Given the description of an element on the screen output the (x, y) to click on. 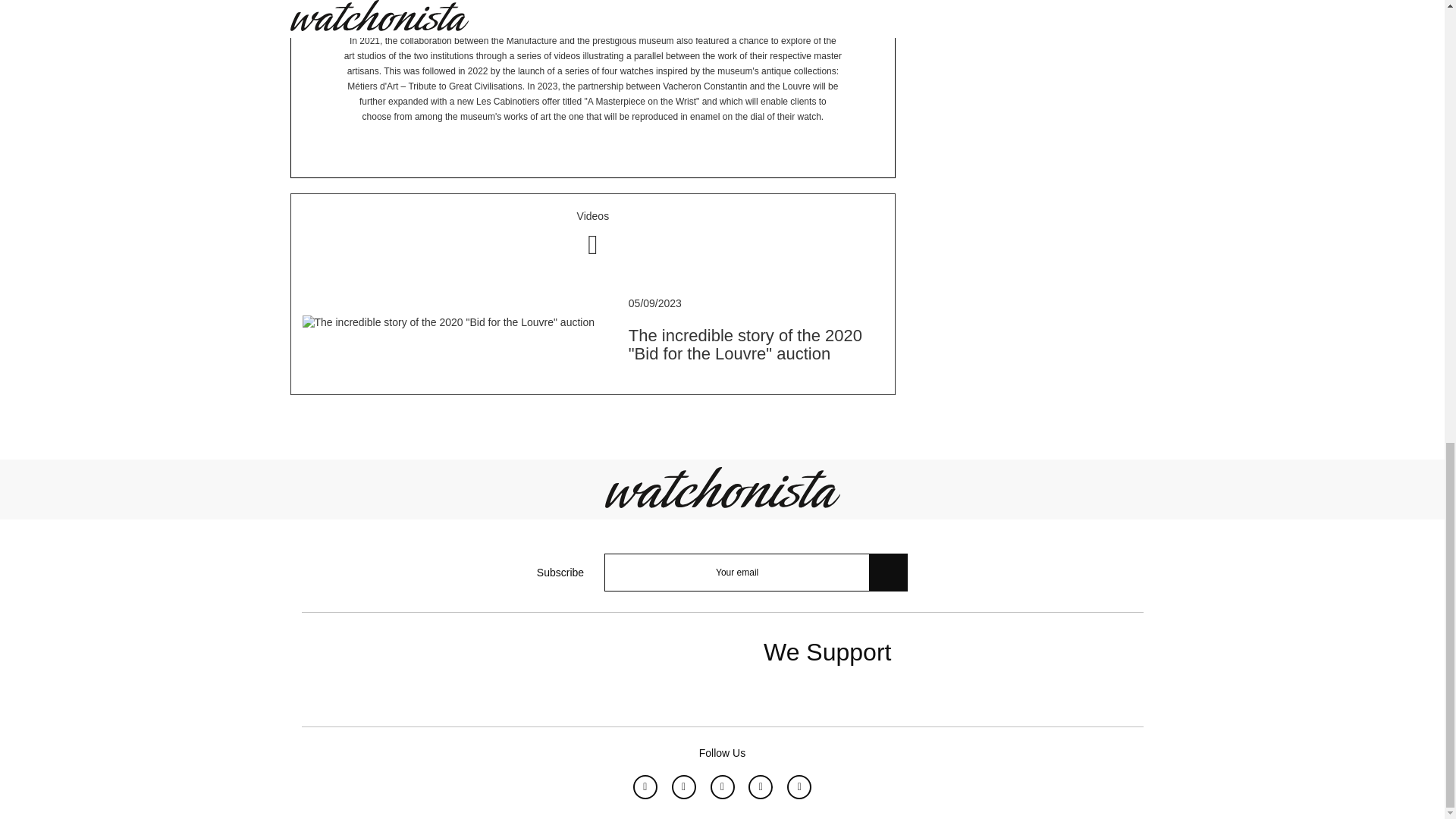
Youtube (760, 786)
Subscribe (888, 572)
Subscribe (888, 572)
Videos (593, 233)
Instagram (683, 786)
LinkedIn (798, 786)
Youtube (760, 786)
Twitter (721, 786)
Sign up (1358, 149)
